Given the description of an element on the screen output the (x, y) to click on. 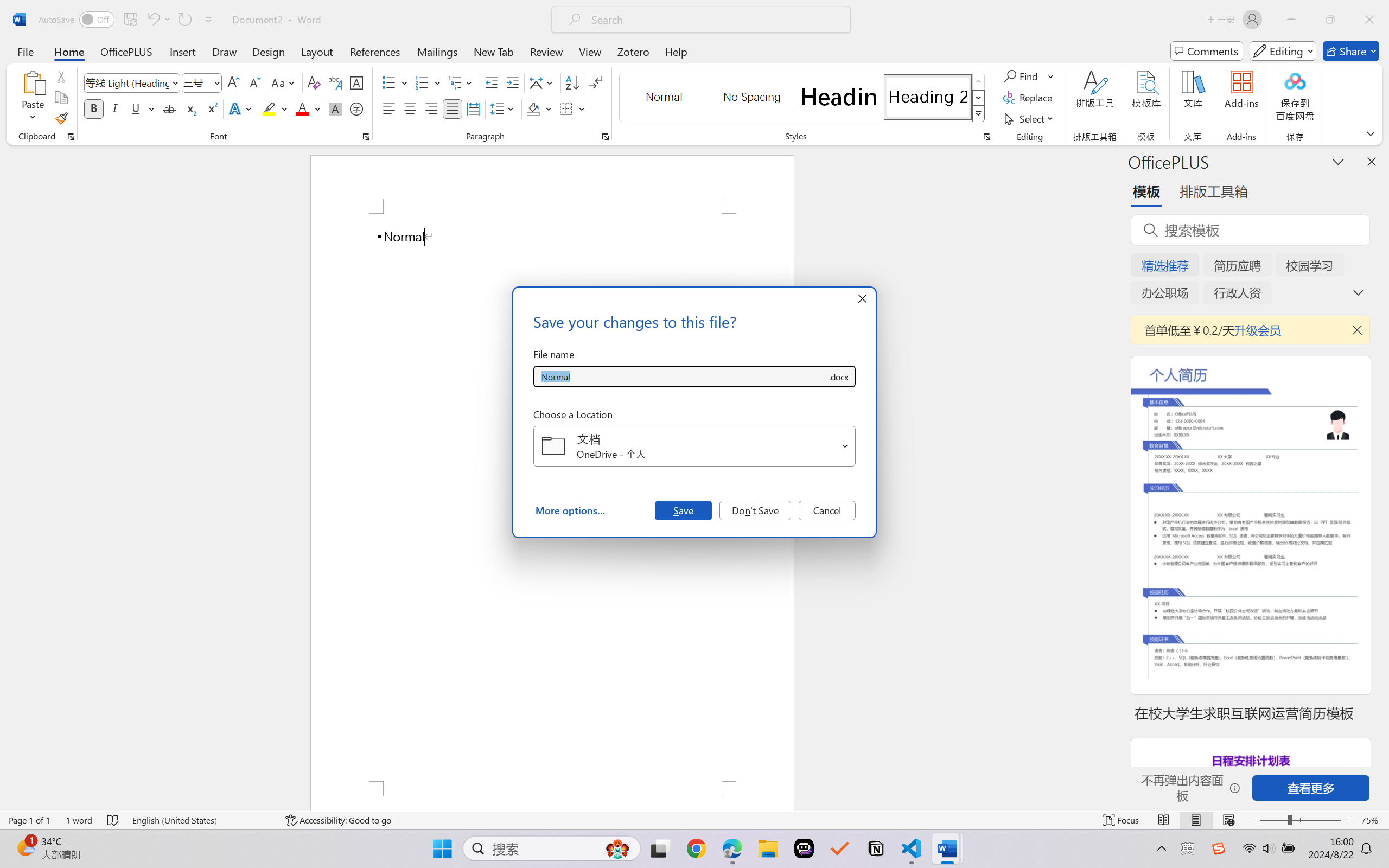
Decrease Indent (491, 82)
Zoom In (1348, 819)
Heading 1 (839, 96)
Zoom Out (1273, 819)
Strikethrough (169, 108)
Borders (571, 108)
Repeat Typing (184, 19)
Don't Save (755, 509)
Cut (60, 75)
More Options (1051, 75)
